Given the description of an element on the screen output the (x, y) to click on. 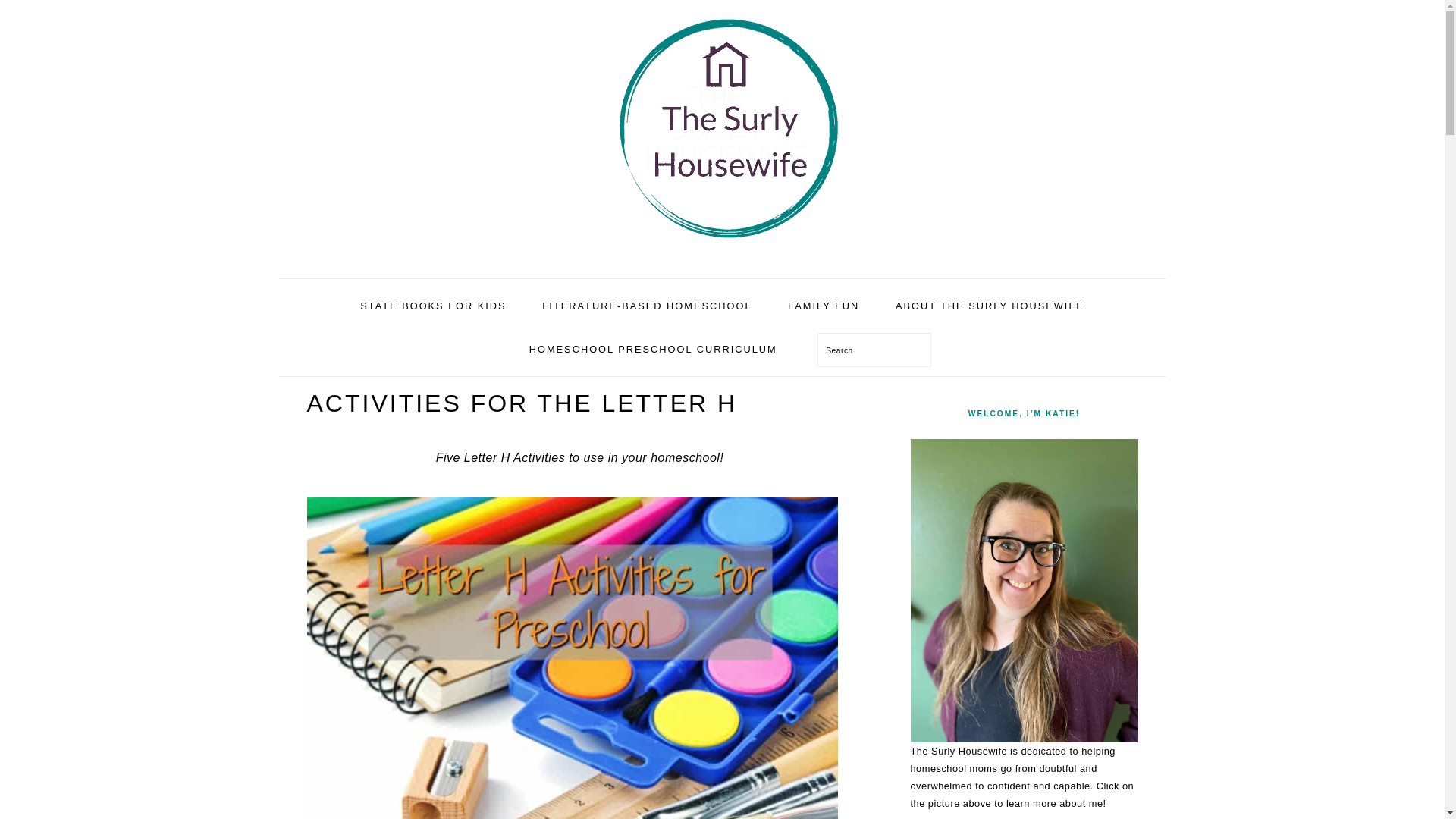
FAMILY FUN (823, 305)
STATE BOOKS FOR KIDS (432, 305)
ABOUT THE SURLY HOUSEWIFE (989, 305)
The Surly Housewife (722, 260)
LITERATURE-BASED HOMESCHOOL (646, 305)
HOMESCHOOL PRESCHOOL CURRICULUM (653, 349)
